Given the description of an element on the screen output the (x, y) to click on. 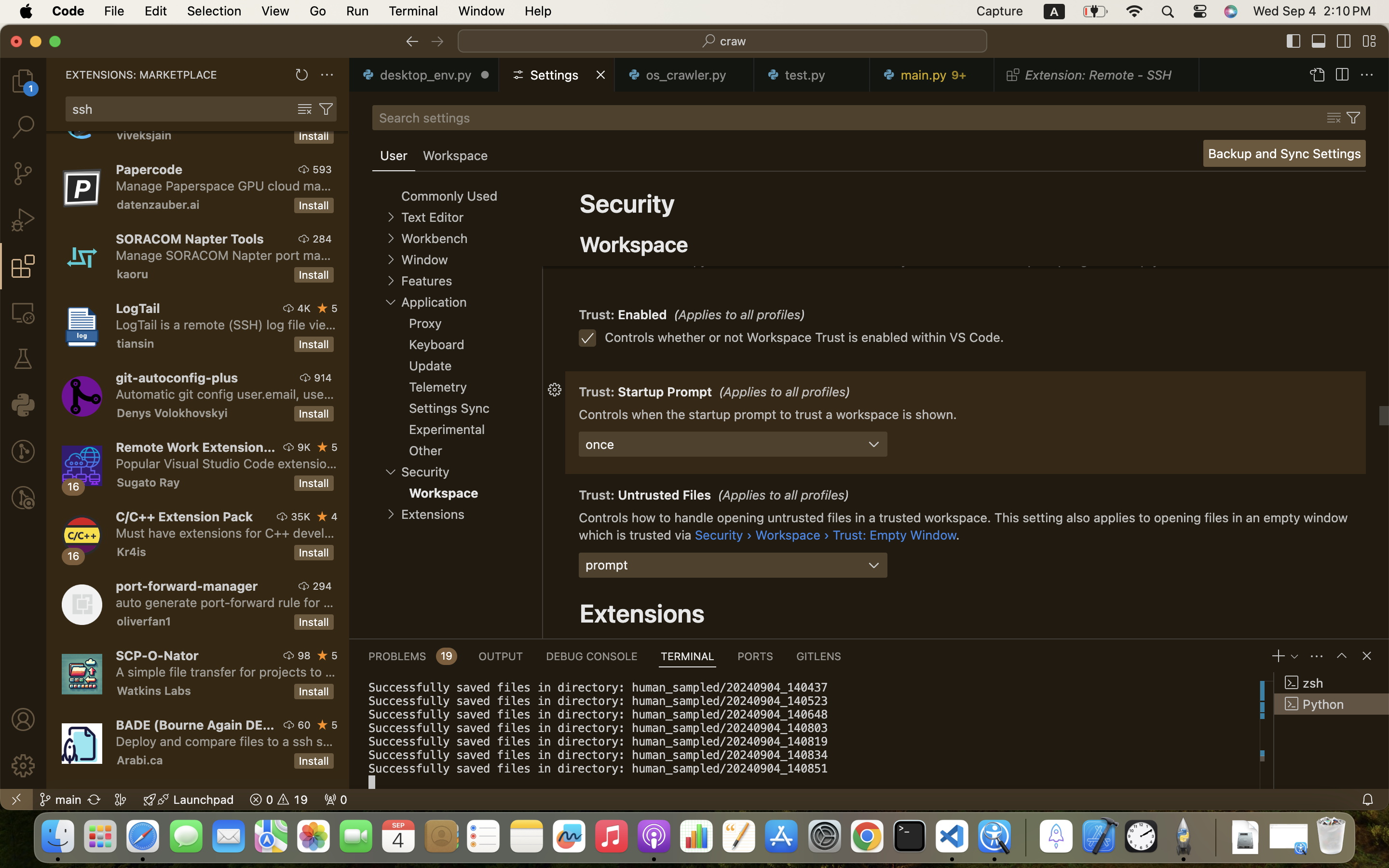
git-autoconfig-plus Element type: AXStaticText (176, 377)
Popular Visual Studio Code extensions for Remote Work Element type: AXStaticText (226, 463)
0 PORTS Element type: AXRadioButton (755, 655)
Settings Sync Element type: AXStaticText (449, 408)
 Element type: AXStaticText (322, 307)
